Given the description of an element on the screen output the (x, y) to click on. 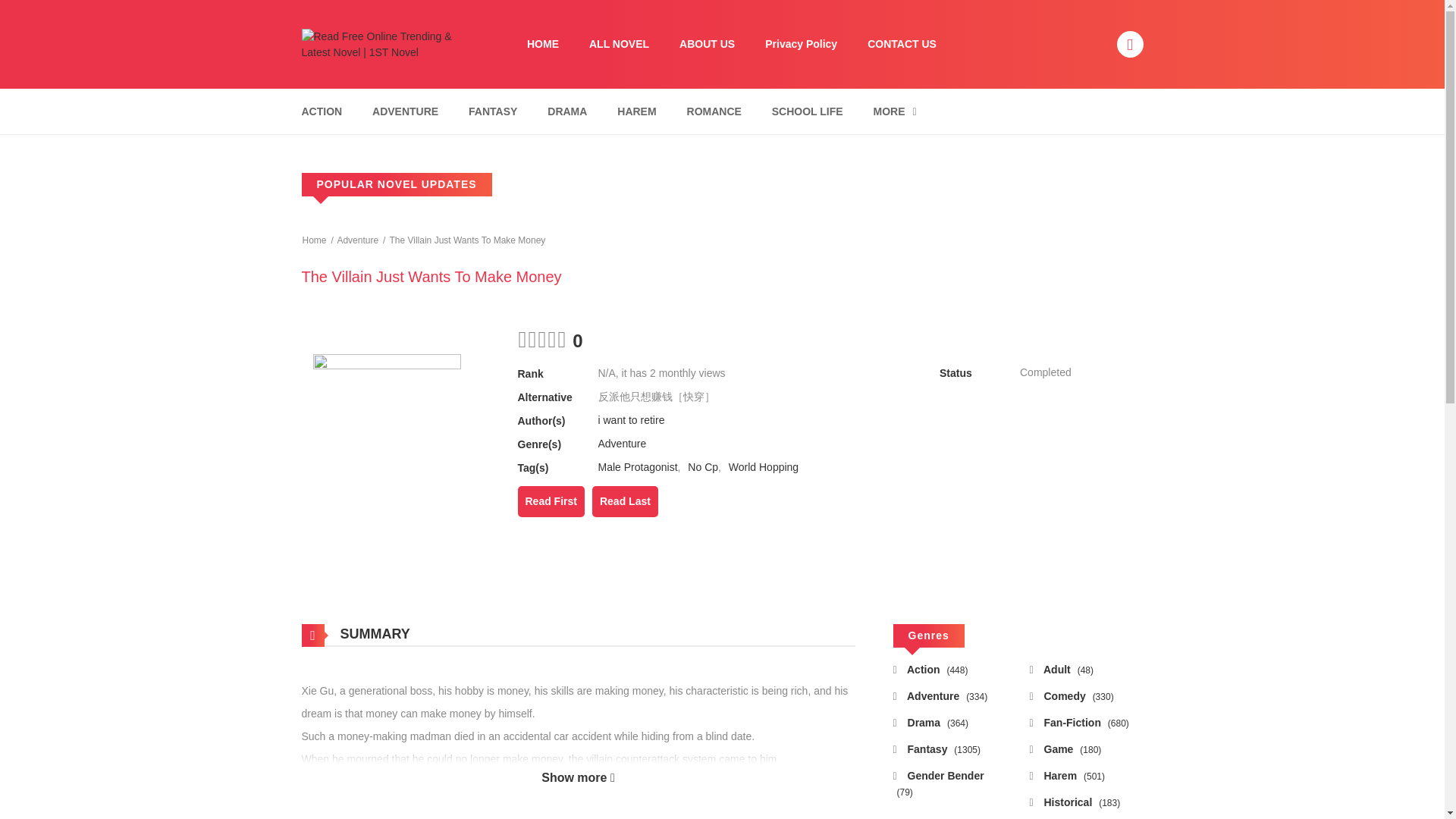
MORE (894, 111)
SCHOOL LIFE (807, 111)
ACTION (321, 111)
DRAMA (566, 111)
CONTACT US (901, 44)
HOME (542, 44)
ALL NOVEL (618, 44)
ADVENTURE (405, 111)
ROMANCE (714, 111)
FANTASY (492, 111)
Privacy Policy (800, 44)
Search (970, 9)
HAREM (636, 111)
ABOUT US (706, 44)
